Given the description of an element on the screen output the (x, y) to click on. 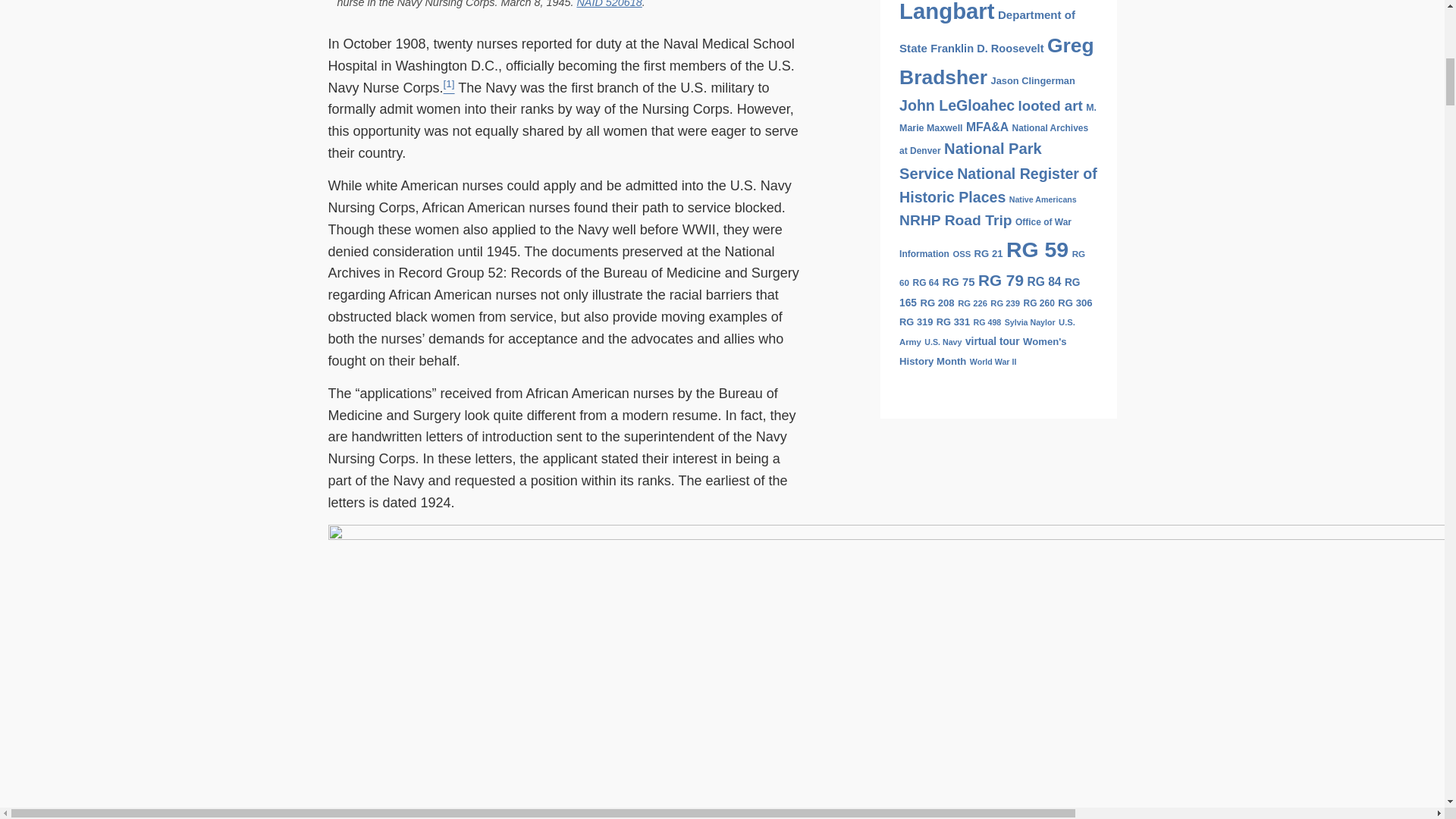
NAID 520618 (609, 4)
